Given the description of an element on the screen output the (x, y) to click on. 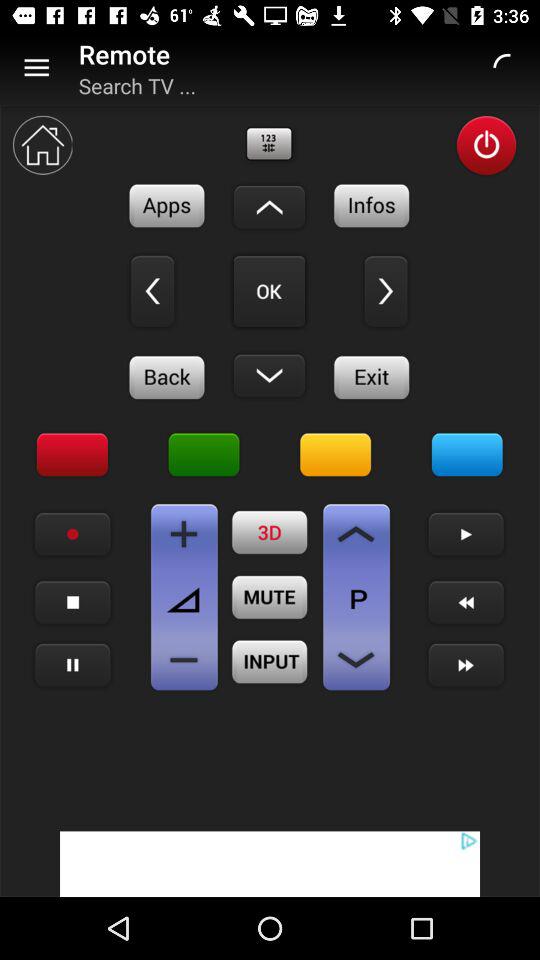
click on advertisement (270, 864)
